Given the description of an element on the screen output the (x, y) to click on. 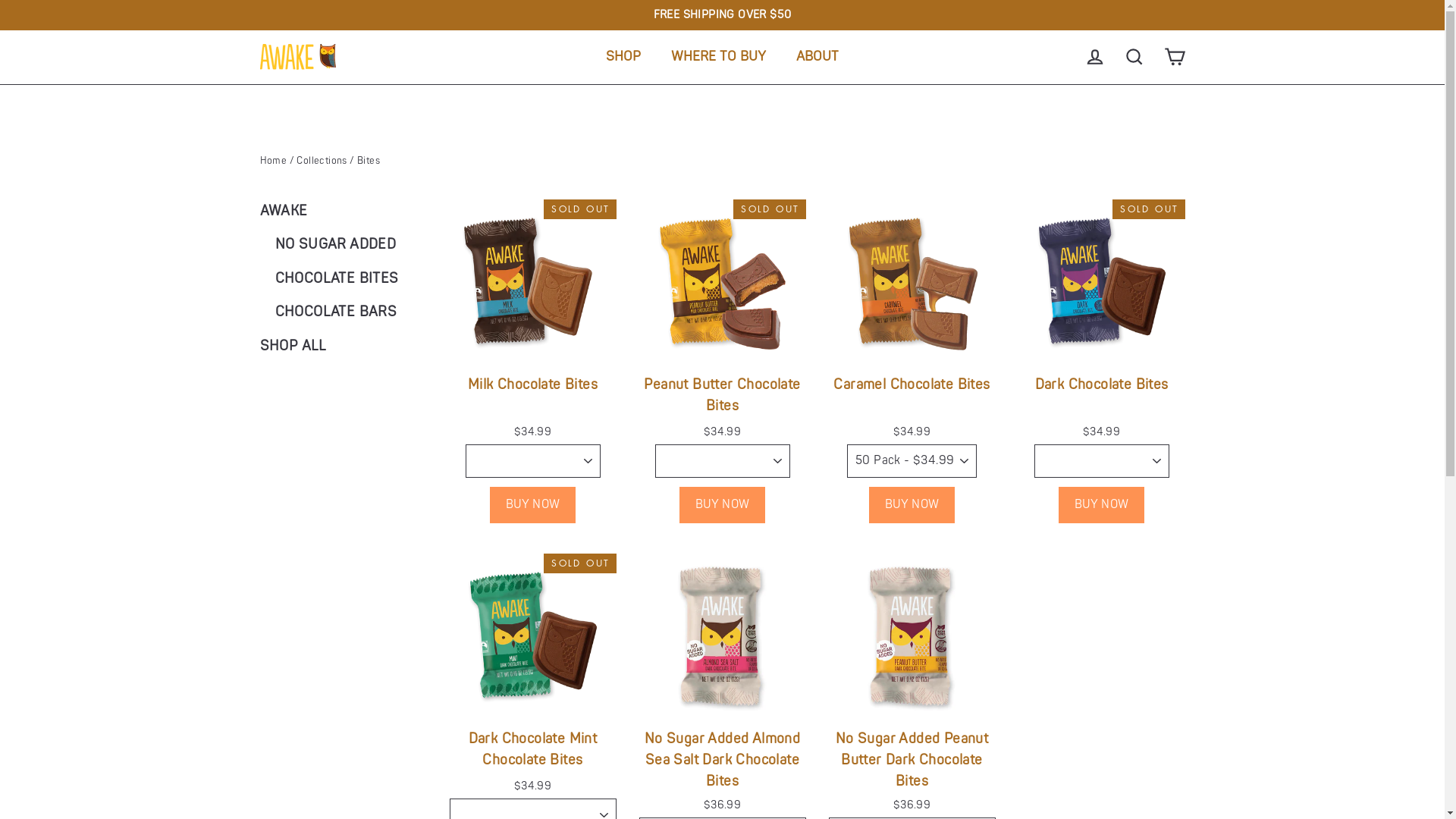
AWAKE Element type: text (342, 214)
WHERE TO BUY Element type: text (718, 56)
CHOCOLATE BITES Element type: text (350, 281)
Dark Chocolate Mint Chocolate Bites
$34.99 Element type: text (531, 676)
Dark Chocolate Bites
$34.99 Element type: text (1100, 322)
ABOUT Element type: text (817, 56)
Buy now Element type: text (912, 504)
CART Element type: text (1173, 56)
Home Element type: text (272, 160)
Collections Element type: text (321, 160)
SHOP Element type: text (622, 56)
Peanut Butter Chocolate Bites
$34.99 Element type: text (721, 322)
No Sugar Added Almond Sea Salt Dark Chocolate Bites
$36.99 Element type: text (721, 685)
No Sugar Added Peanut Butter Dark Chocolate Bites
$36.99 Element type: text (911, 685)
Buy now Element type: text (532, 504)
Buy now Element type: text (1101, 504)
Milk Chocolate Bites
$34.99 Element type: text (531, 322)
Buy now Element type: text (722, 504)
Skip to content Element type: text (0, 0)
CHOCOLATE BARS Element type: text (350, 315)
SEARCH Element type: text (1134, 56)
LOG IN Element type: text (1094, 56)
SHOP ALL Element type: text (342, 349)
Caramel Chocolate Bites
$34.99 Element type: text (911, 322)
FREE SHIPPING OVER $50 Element type: text (722, 15)
NO SUGAR ADDED Element type: text (350, 247)
